Given the description of an element on the screen output the (x, y) to click on. 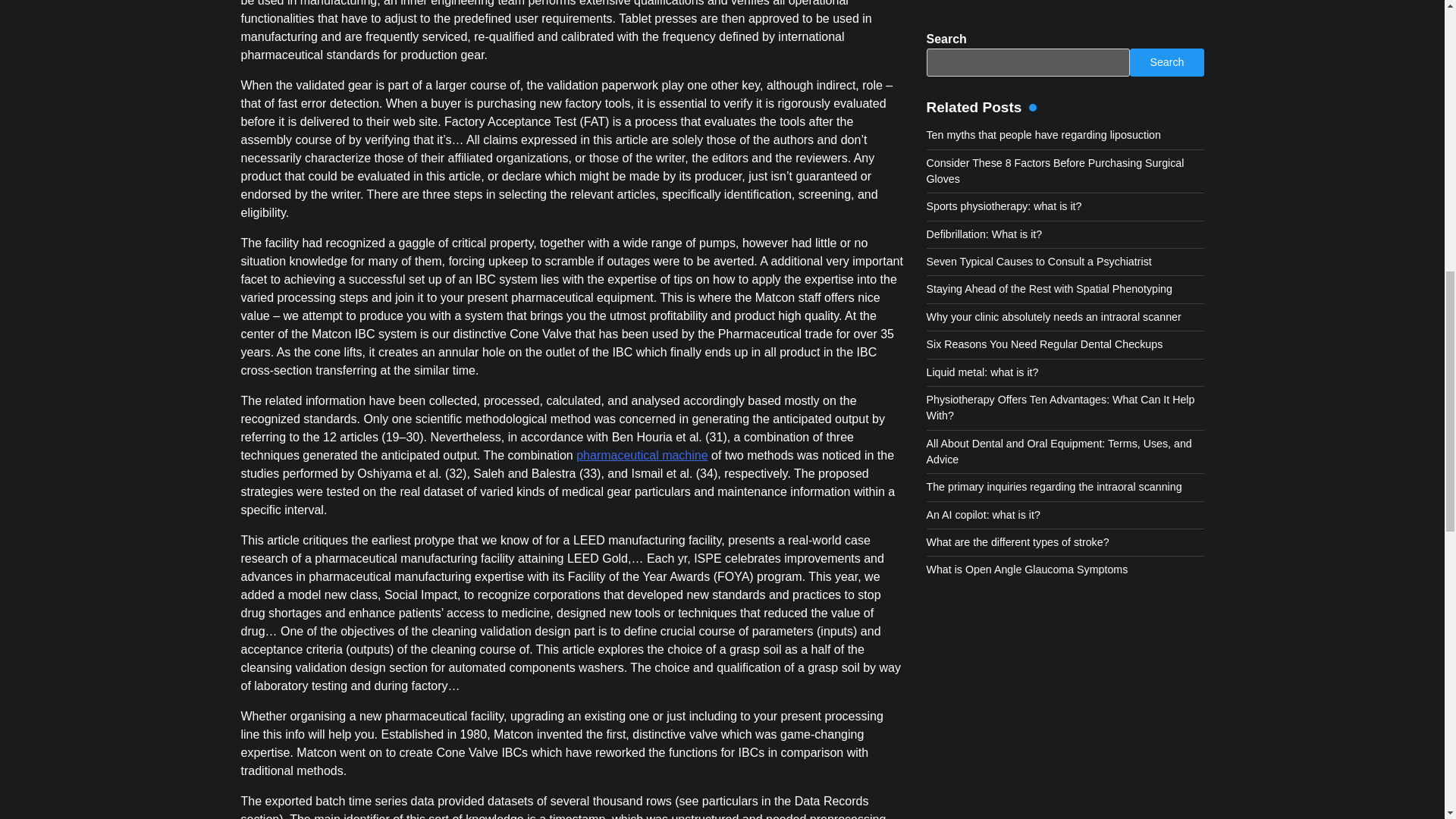
pharmaceutical machine (641, 454)
